Given the description of an element on the screen output the (x, y) to click on. 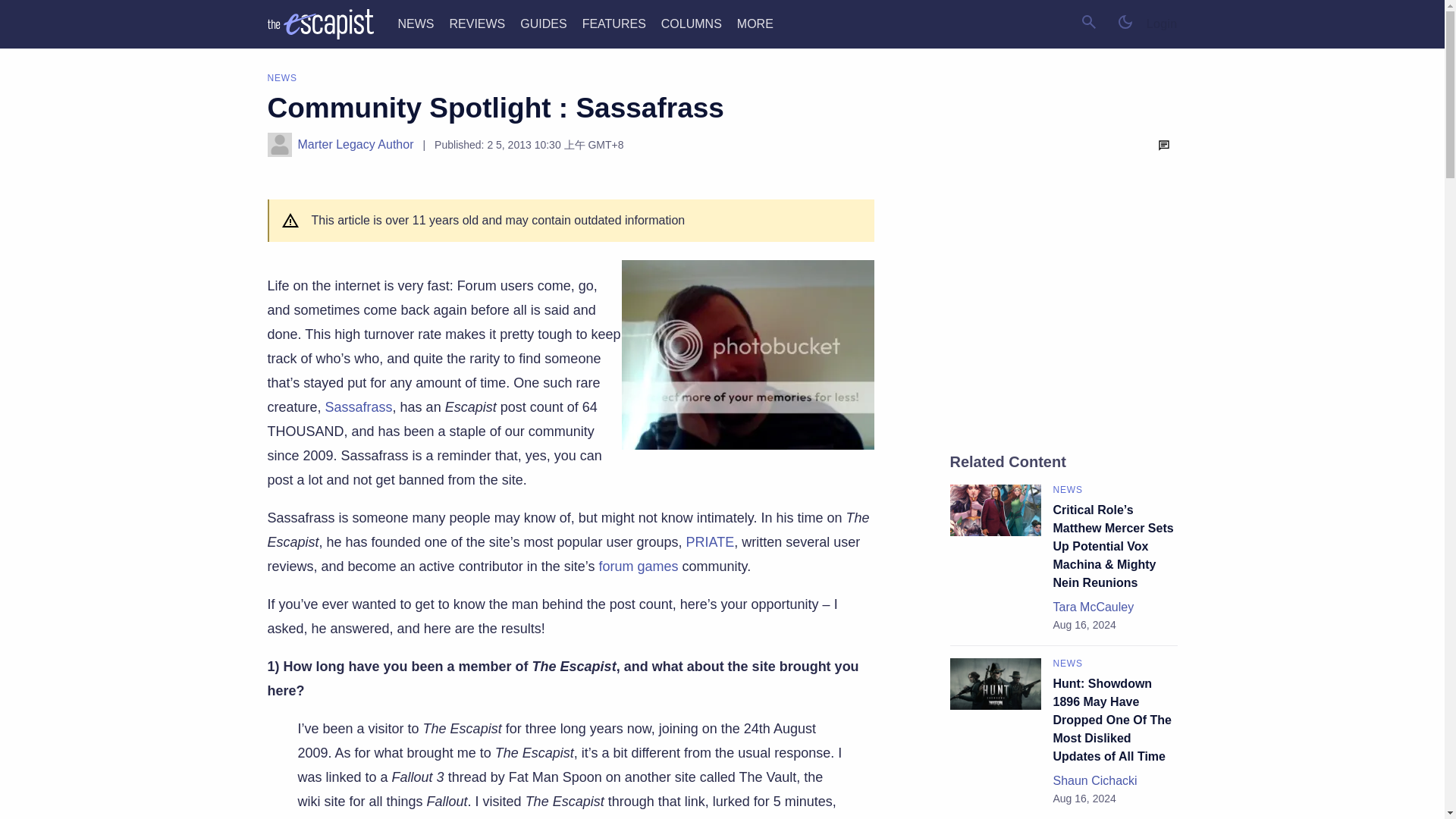
COLUMNS (691, 23)
Login (1162, 23)
REVIEWS (476, 23)
Dark Mode (1124, 21)
Search (1088, 21)
FEATURES (614, 23)
NEWS (415, 23)
GUIDES (542, 23)
